Given the description of an element on the screen output the (x, y) to click on. 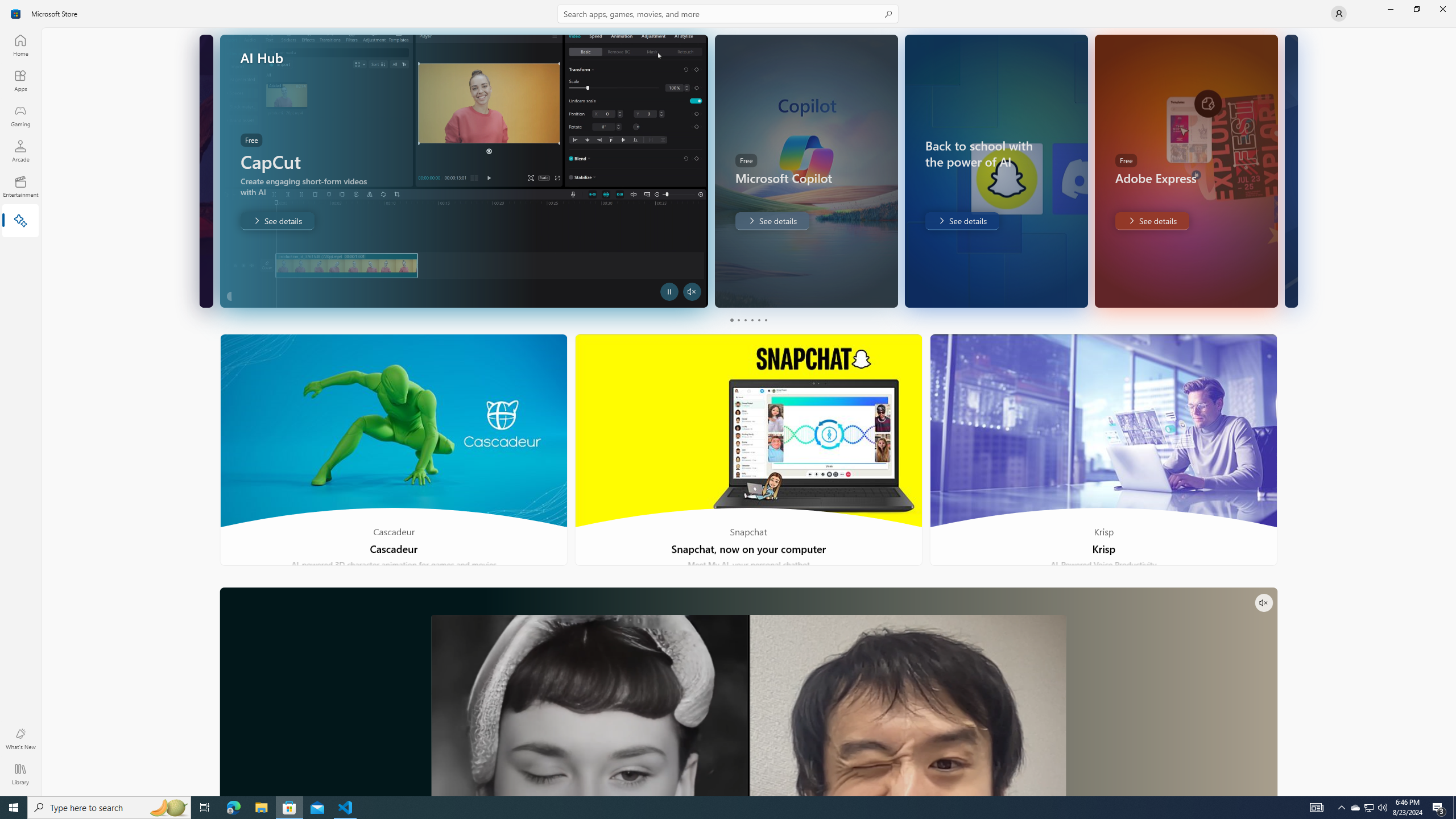
Home (20, 45)
Pager (748, 319)
AutomationID: Image (1290, 170)
Page 6 (764, 319)
AI Hub (20, 221)
Unmute (1263, 602)
Page 5 (758, 319)
What's New (20, 738)
User profile (1338, 13)
Minimize Microsoft Store (1390, 9)
Library (20, 773)
Gaming (20, 115)
Page 1 (731, 319)
Page 2 (738, 319)
